Given the description of an element on the screen output the (x, y) to click on. 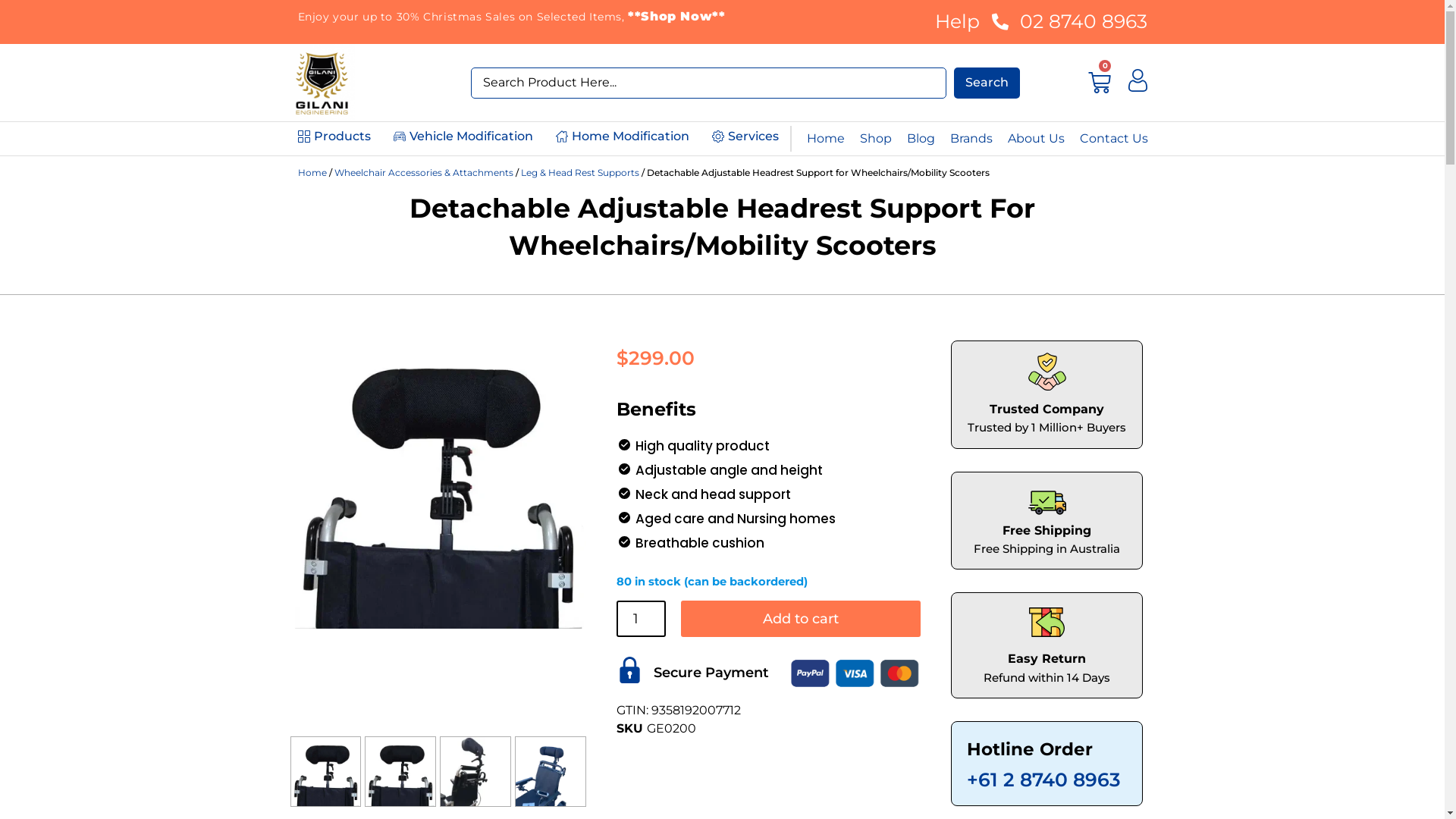
Blog Element type: text (920, 138)
Vehicle Modification Element type: text (463, 137)
Contact Us Element type: text (1113, 138)
Products Element type: text (333, 137)
Search Element type: text (986, 82)
0 Element type: text (1099, 82)
Brands Element type: text (971, 138)
Leg & Head Rest Supports Element type: text (579, 172)
Shop Element type: text (875, 138)
Services Element type: text (745, 137)
About Us Element type: text (1035, 138)
Help Element type: text (957, 21)
02 8740 8963 Element type: text (1067, 21)
Home Modification Element type: text (622, 137)
Home Element type: text (825, 138)
**Shop Now** Element type: text (675, 16)
Add to cart Element type: text (800, 618)
Home Element type: text (311, 172)
Wheelchair Accessories & Attachments Element type: text (422, 172)
+61 2 8740 8963 Element type: text (1043, 779)
